Given the description of an element on the screen output the (x, y) to click on. 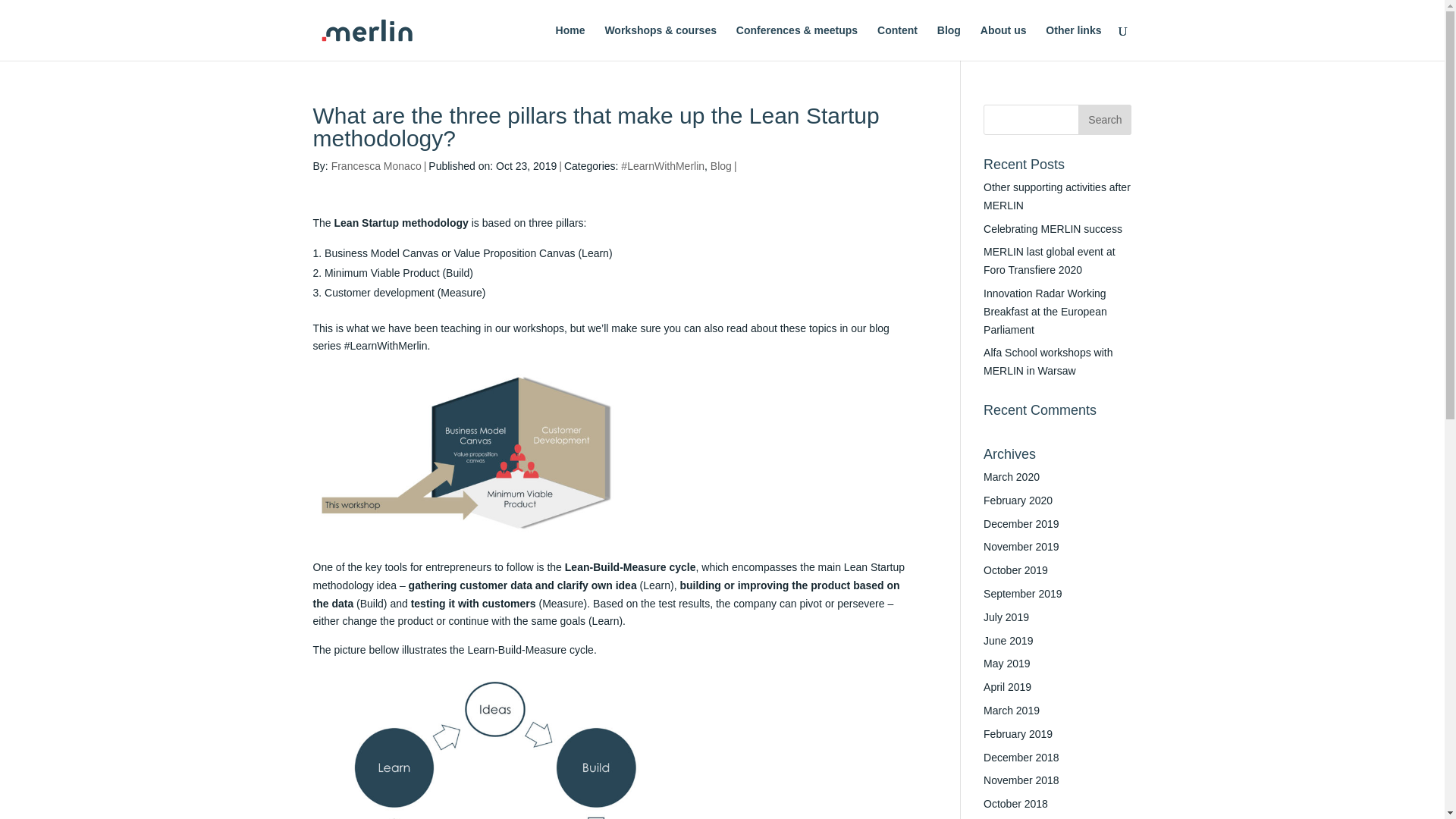
Posts by Francesca Monaco (376, 165)
February 2019 (1018, 734)
December 2018 (1021, 757)
About us (1002, 42)
Other supporting activities after MERLIN (1057, 195)
October 2018 (1016, 803)
Other links (1072, 42)
Search (1104, 119)
Celebrating MERLIN success (1053, 228)
November 2018 (1021, 779)
MERLIN last global event at Foro Transfiere 2020 (1049, 260)
October 2019 (1016, 570)
Blog (721, 165)
Search (1104, 119)
